Given the description of an element on the screen output the (x, y) to click on. 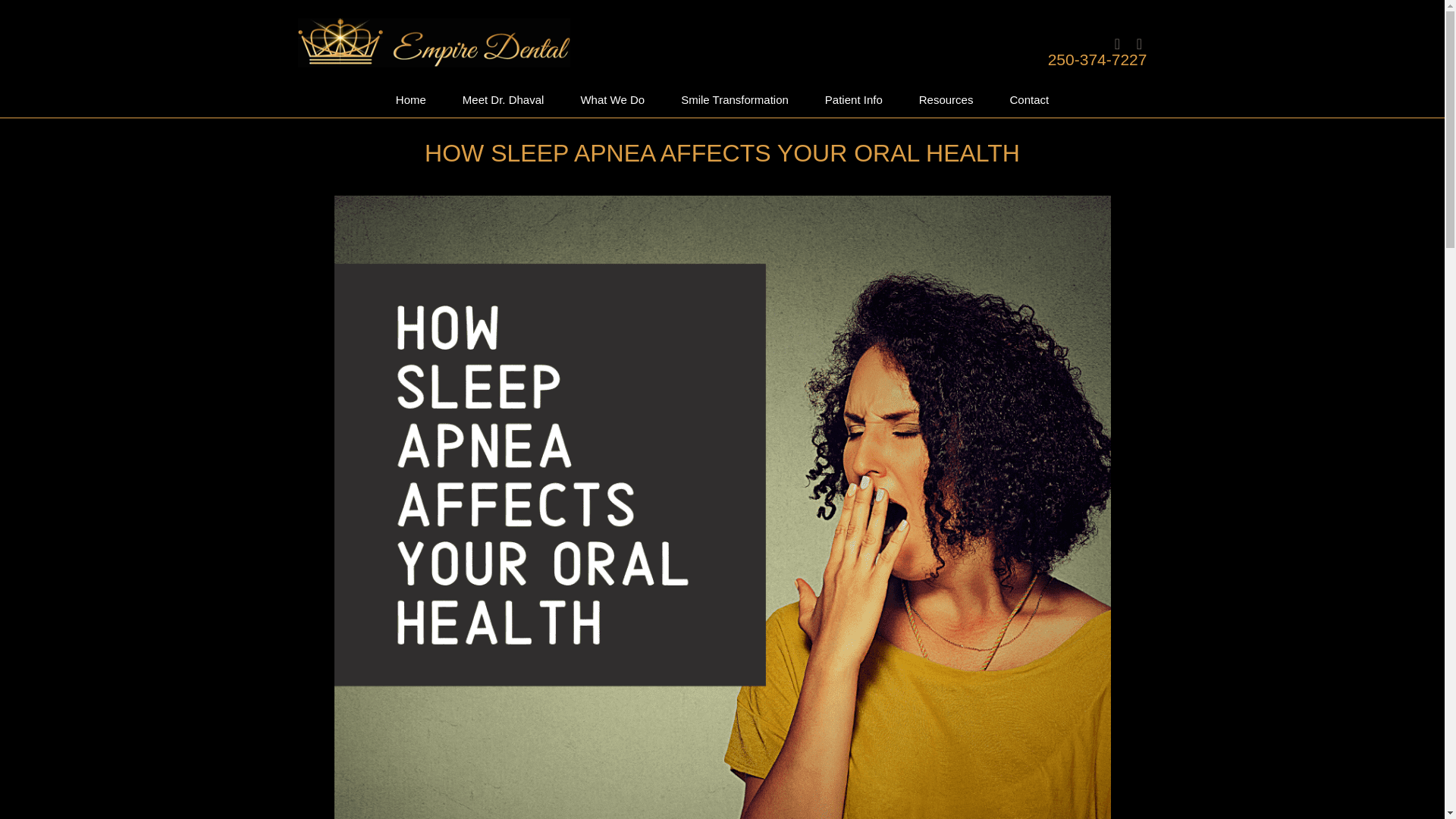
Home (410, 99)
Smile Transformation (734, 99)
Meet Dr. Dhaval (503, 99)
Patient Info (853, 99)
Resources (946, 99)
Contact (1029, 99)
250-374-7227 (1097, 58)
What We Do (612, 99)
